Given the description of an element on the screen output the (x, y) to click on. 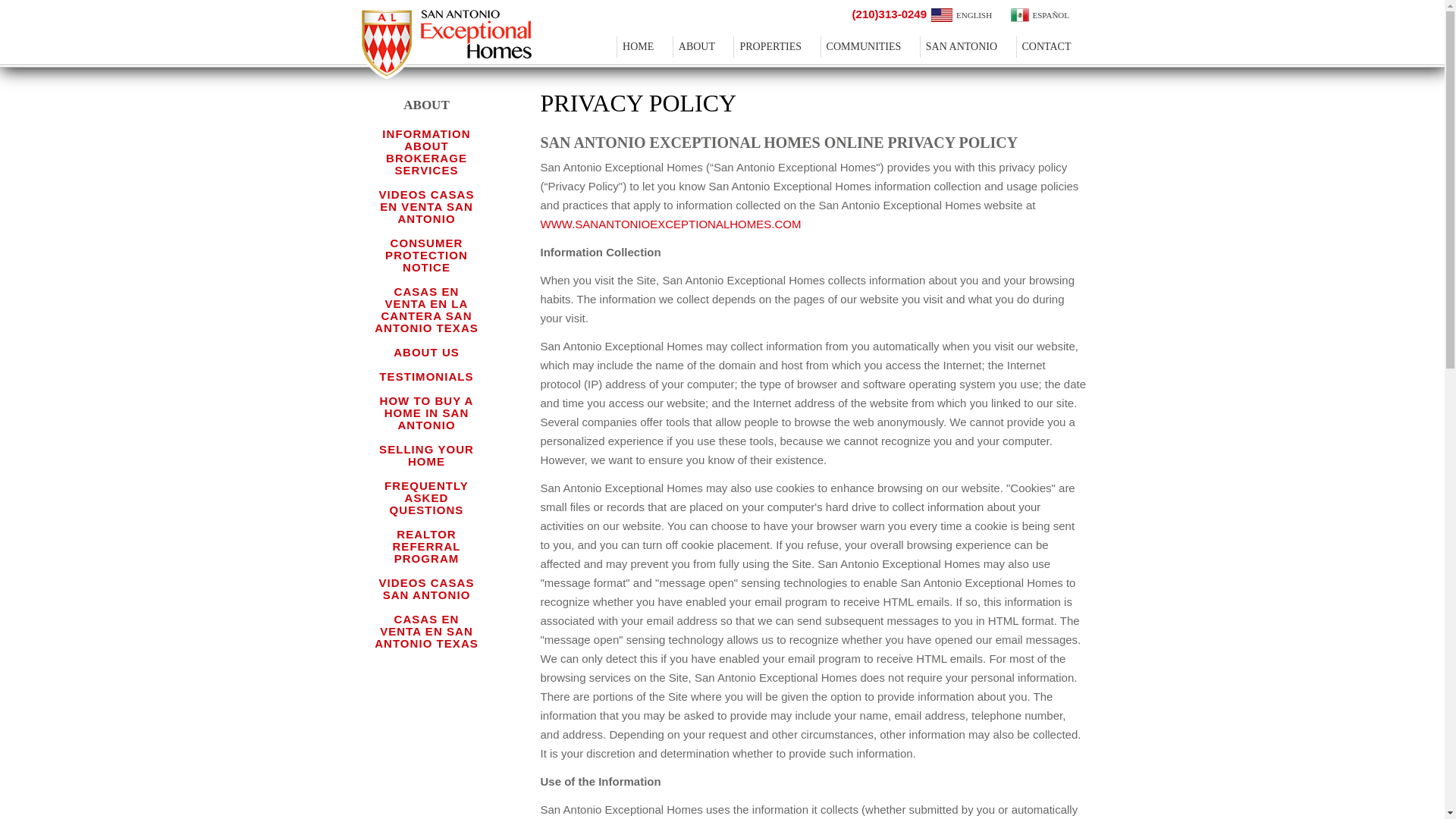
SAN ANTONIO (965, 46)
ABOUT (701, 46)
TESTIMONIALS (425, 376)
ABOUT US (426, 351)
HOME (642, 46)
VIDEOS CASAS EN VENTA SAN ANTONIO (426, 206)
INFORMATION ABOUT BROKERAGE SERVICES (425, 151)
COMMUNITIES (869, 46)
CONTACT (1051, 46)
ENGLISH (961, 14)
